Given the description of an element on the screen output the (x, y) to click on. 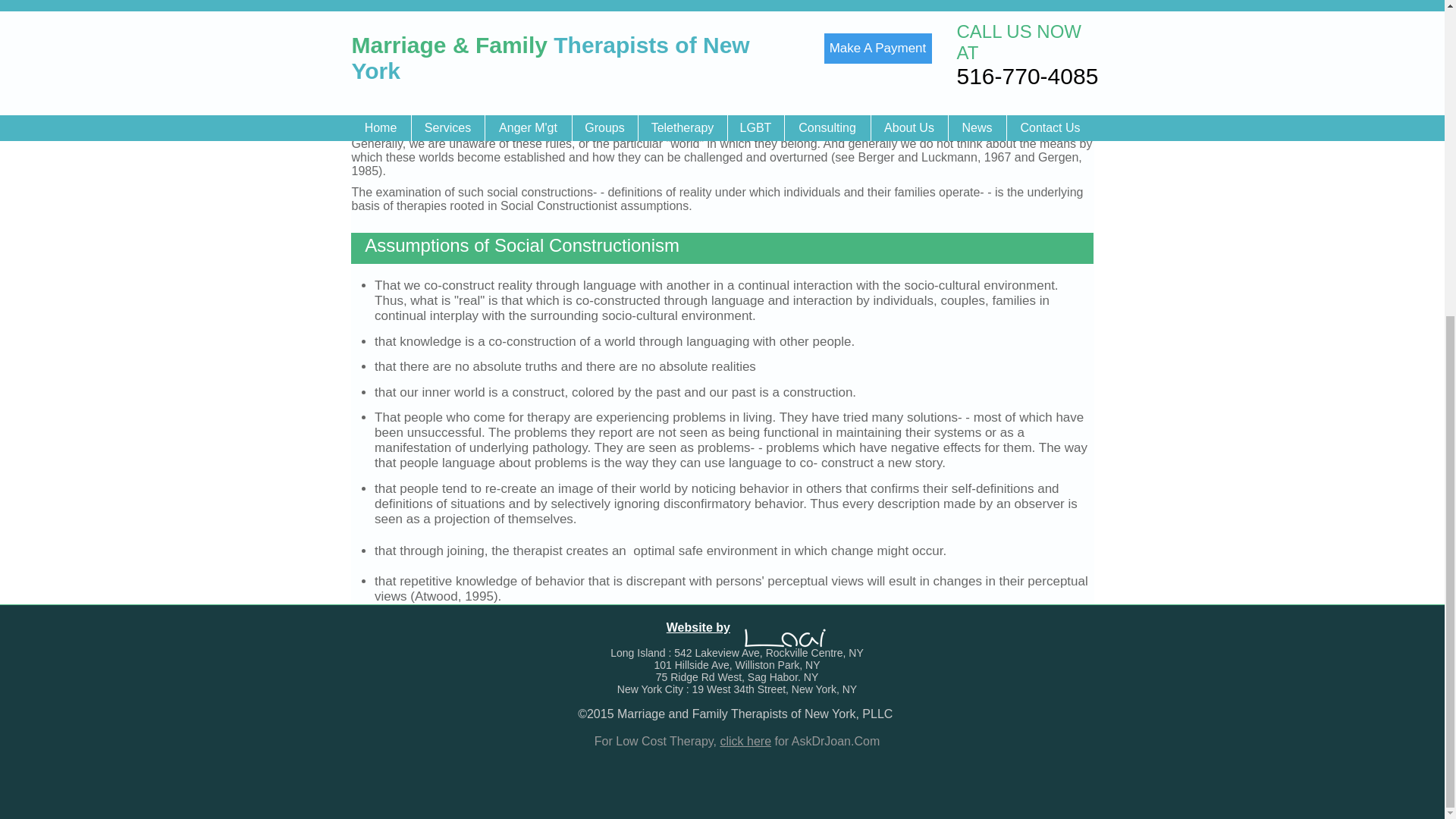
click here for AskDrJoan.Com (799, 740)
Loai Design Studio (784, 637)
